Given the description of an element on the screen output the (x, y) to click on. 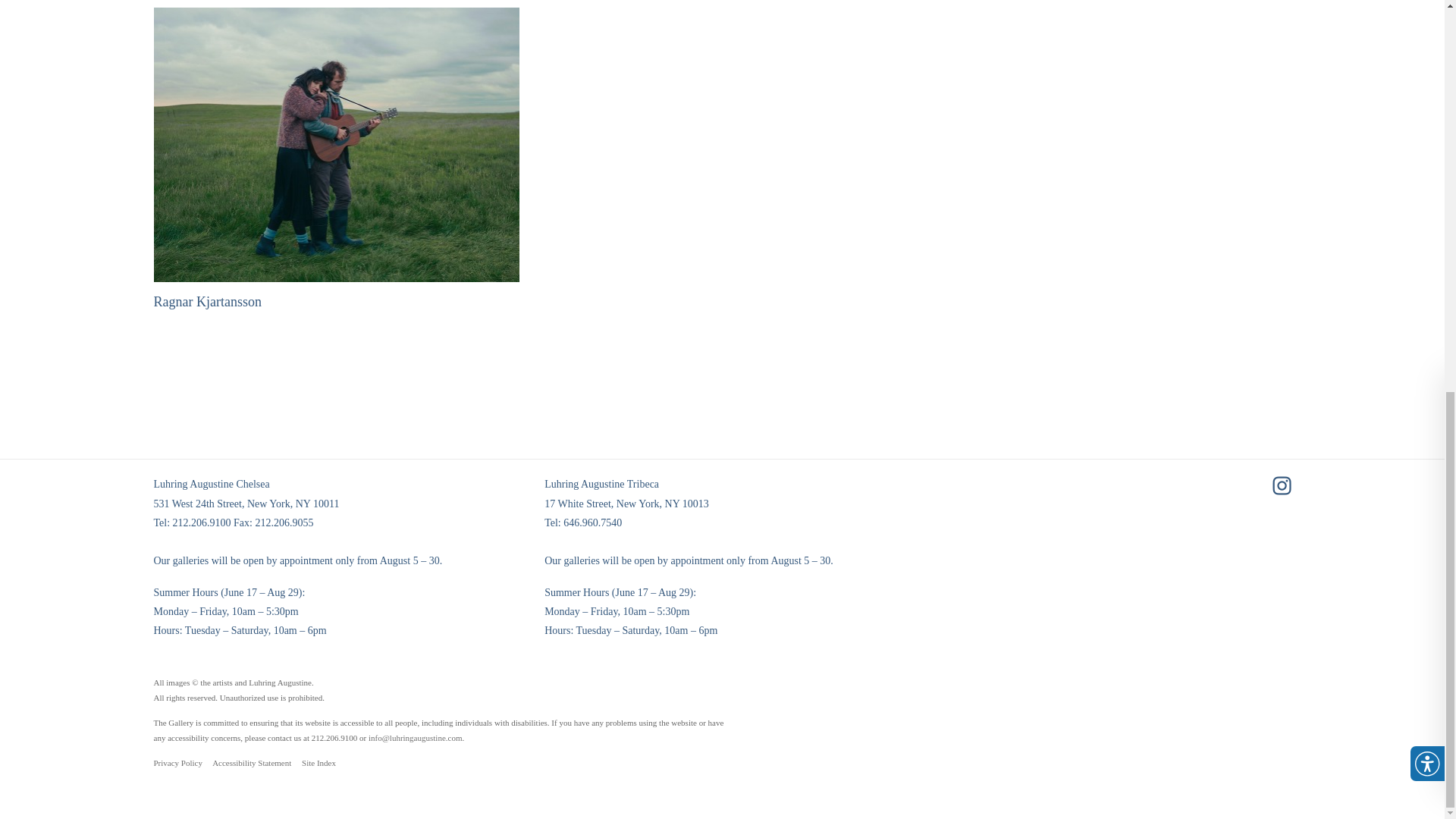
Privacy Policy (177, 762)
Site Index (318, 762)
Ragnar Kjartansson (335, 159)
Accessibility Statement (251, 762)
